Given the description of an element on the screen output the (x, y) to click on. 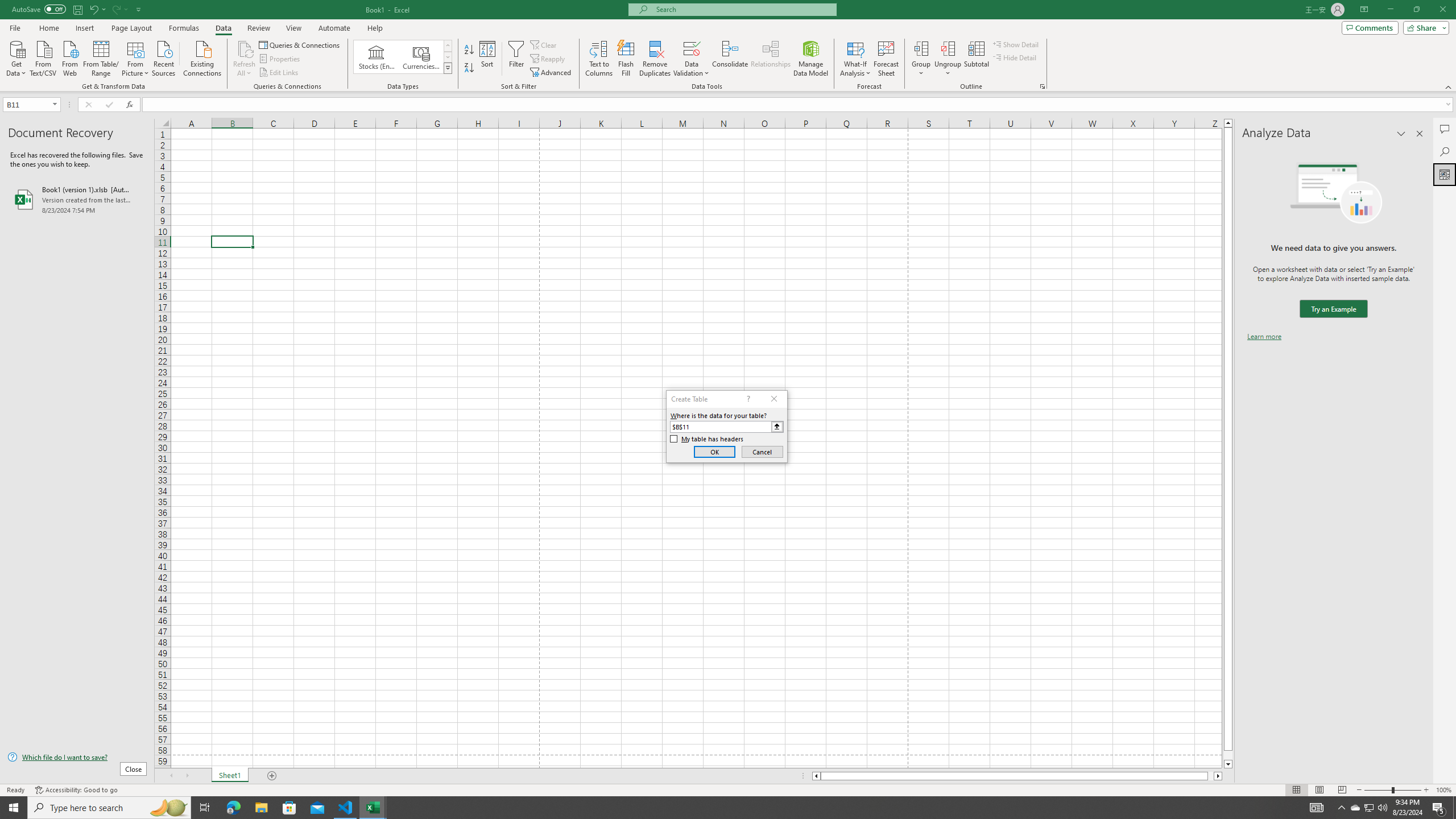
Microsoft search (742, 9)
Row Down (448, 56)
Hide Detail (1014, 56)
From Picture (135, 57)
Ungroup... (947, 58)
Accessibility Checker Accessibility: Good to go (76, 790)
Restore Down (1416, 9)
What-If Analysis (855, 58)
